Given the description of an element on the screen output the (x, y) to click on. 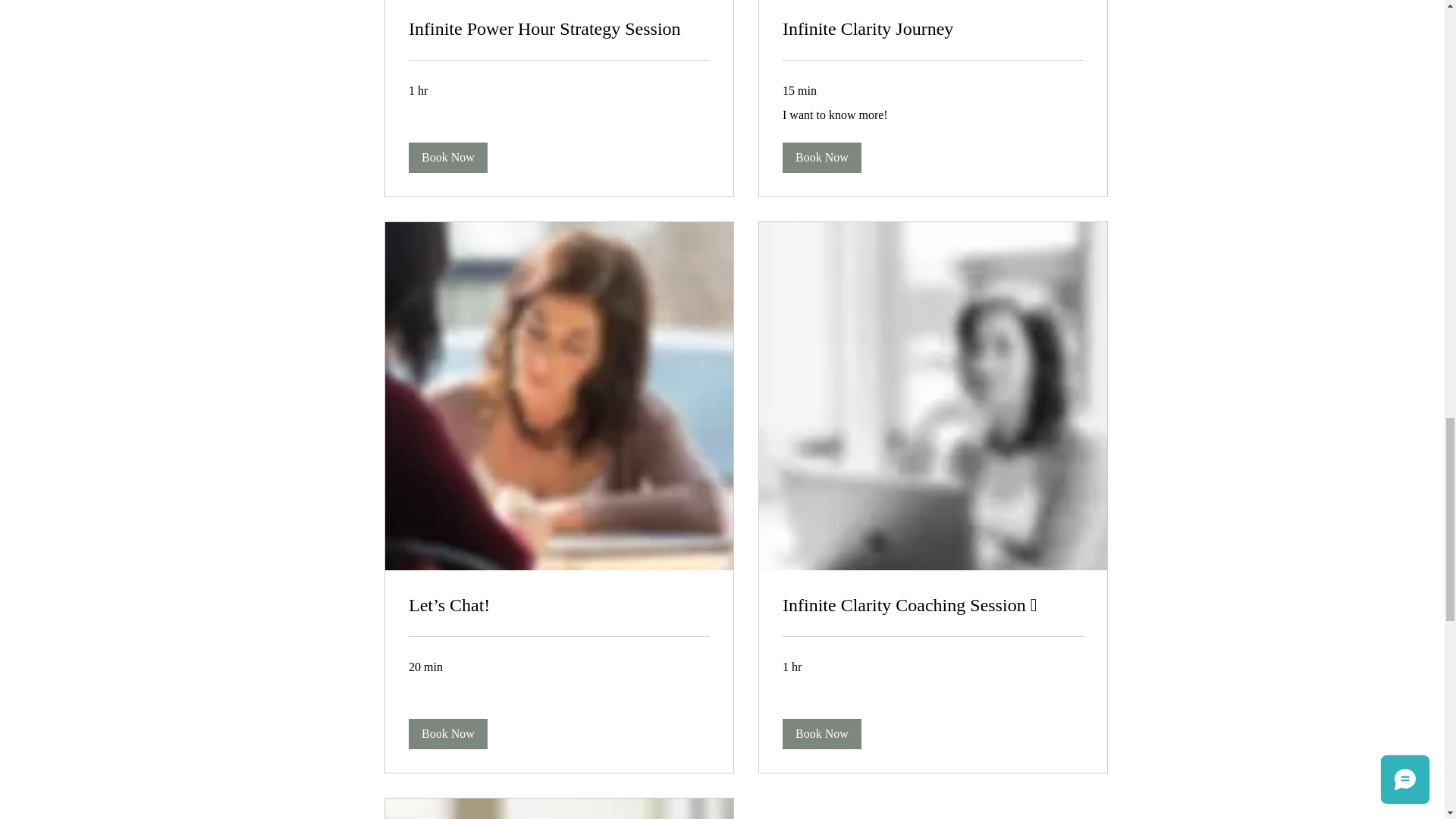
Book Now (446, 734)
Infinite Power Hour Strategy Session (558, 29)
Book Now (822, 734)
Book Now (822, 157)
Infinite Clarity Journey (933, 29)
Book Now (446, 157)
